Given the description of an element on the screen output the (x, y) to click on. 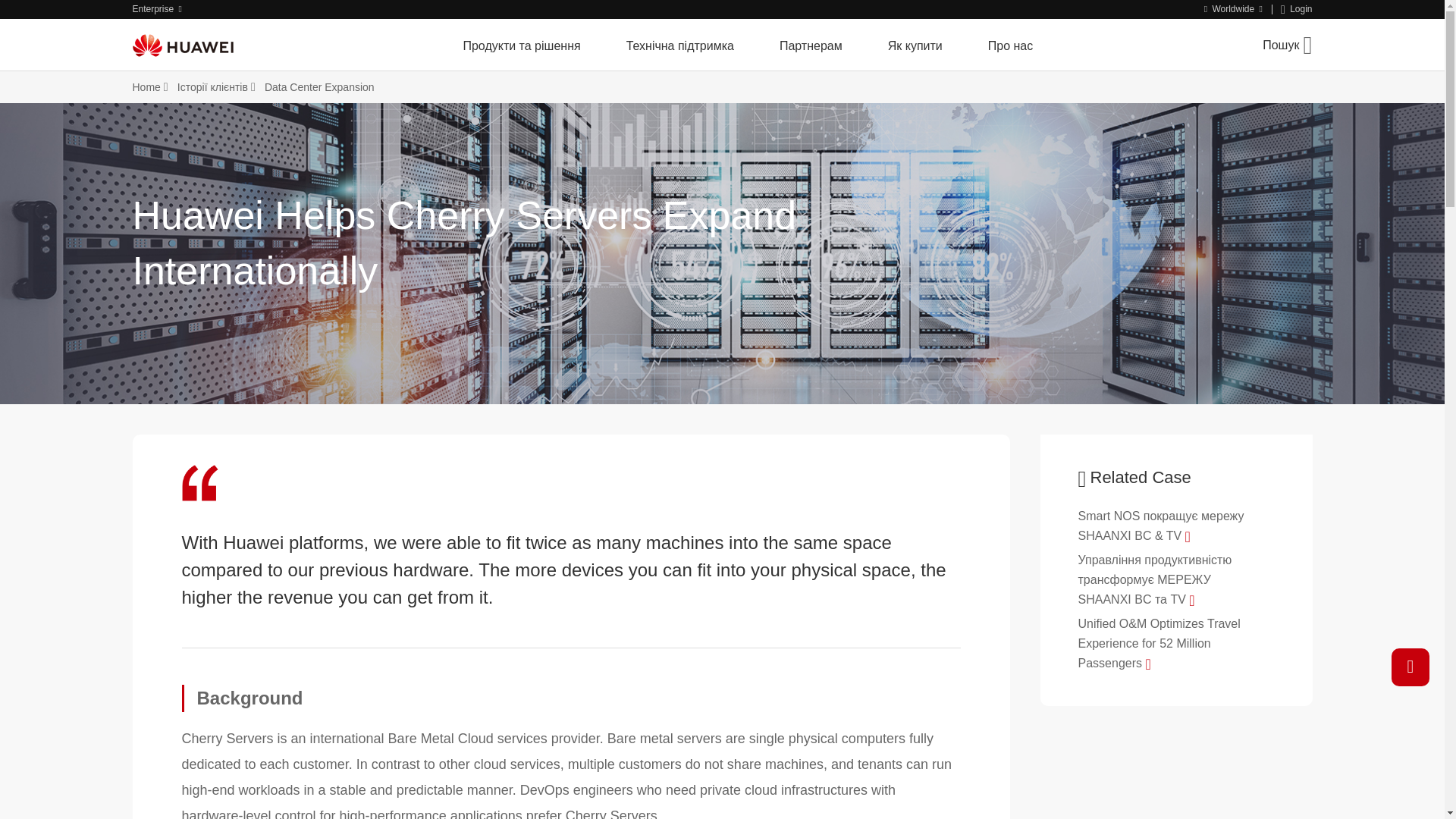
Huawei (182, 44)
Background (571, 697)
Login (1296, 9)
